Given the description of an element on the screen output the (x, y) to click on. 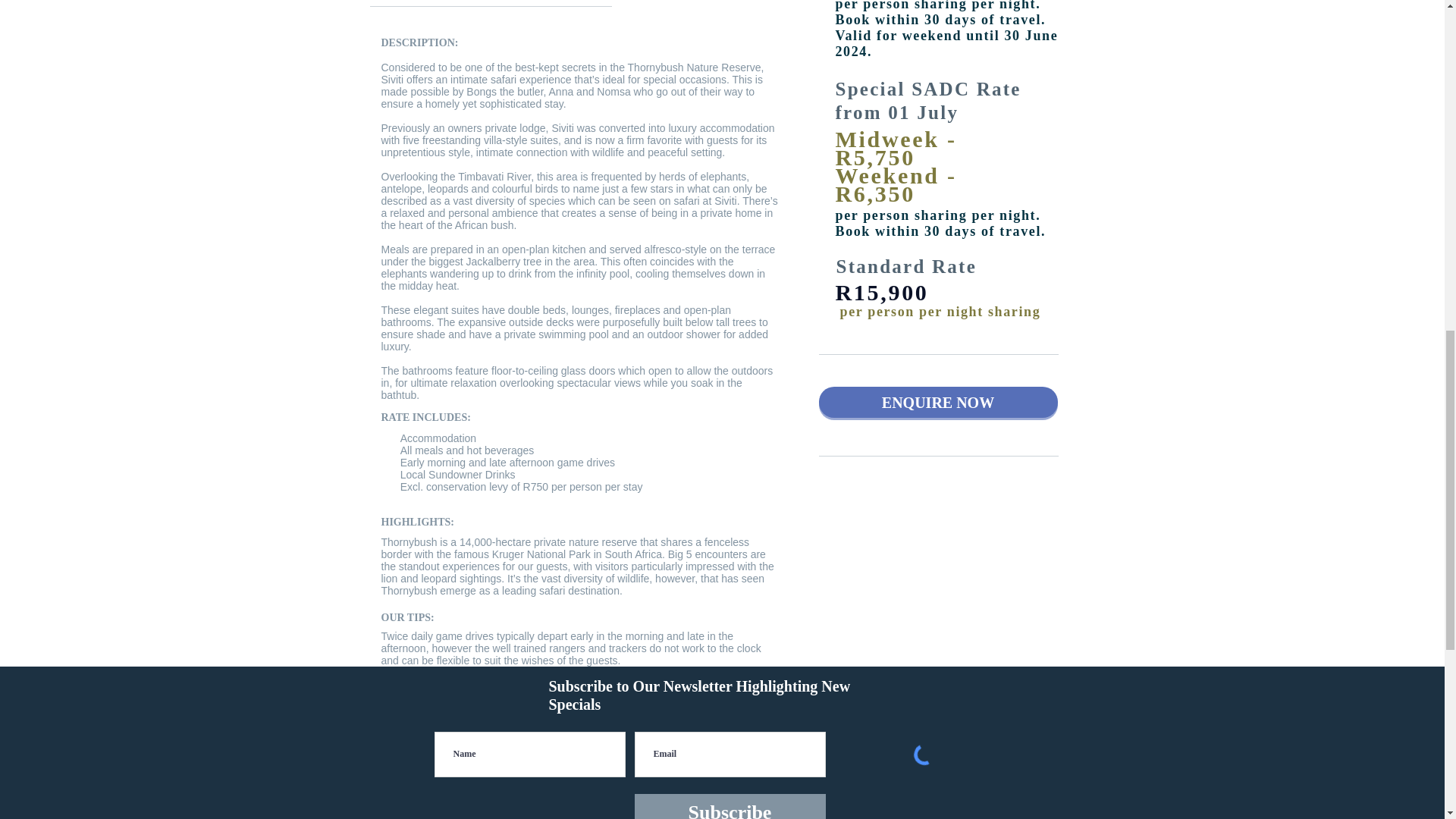
ENQUIRE NOW (938, 401)
Subscribe (729, 806)
